Given the description of an element on the screen output the (x, y) to click on. 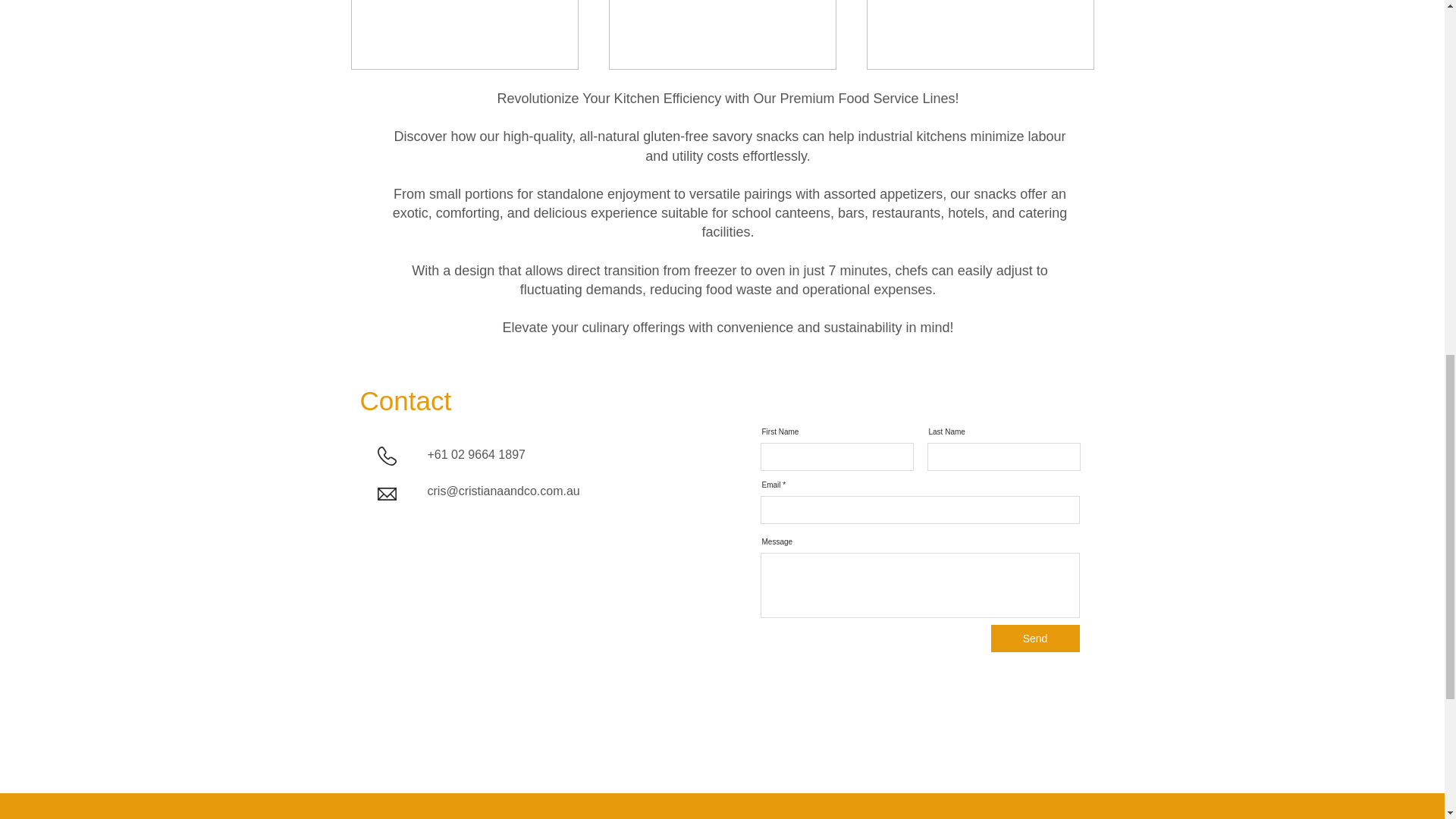
Send (1034, 637)
